Given the description of an element on the screen output the (x, y) to click on. 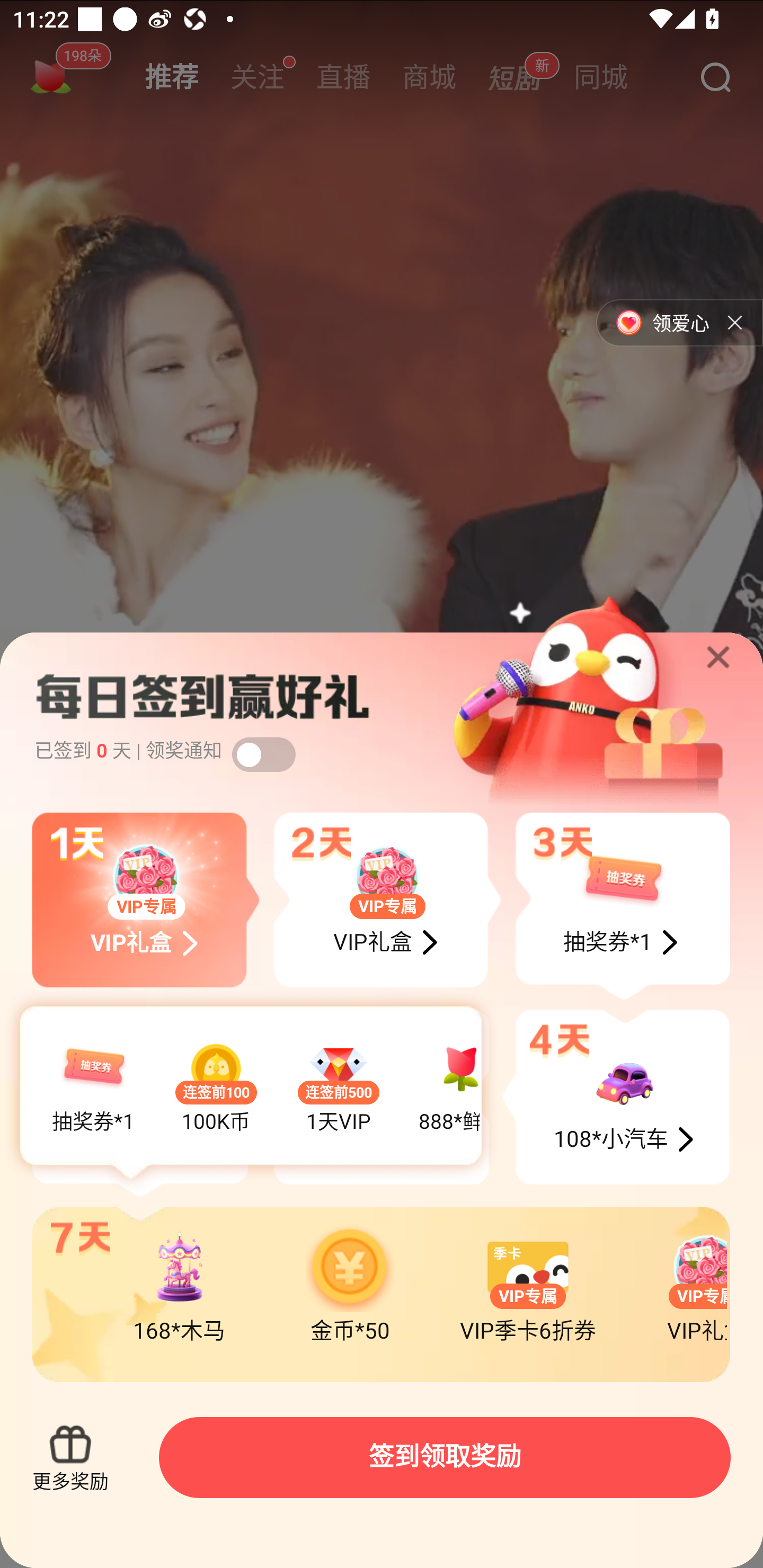
打开 (263, 753)
  VIP专属   VIP专属花束 (146, 899)
  VIP专属   热度卡7折券 (387, 899)
抽奖券*1 (622, 906)
抽奖券*1   连签前100   100K币   连签前500   1天VIP 888*鲜花 (250, 1092)
108*小汽车 (616, 1097)
168*木马 (186, 1284)
金币*50 (357, 1284)
  VIP专属   VIP季卡6折券 (535, 1284)
签到领取奖励 (444, 1457)
更多奖励 (70, 1457)
